Given the description of an element on the screen output the (x, y) to click on. 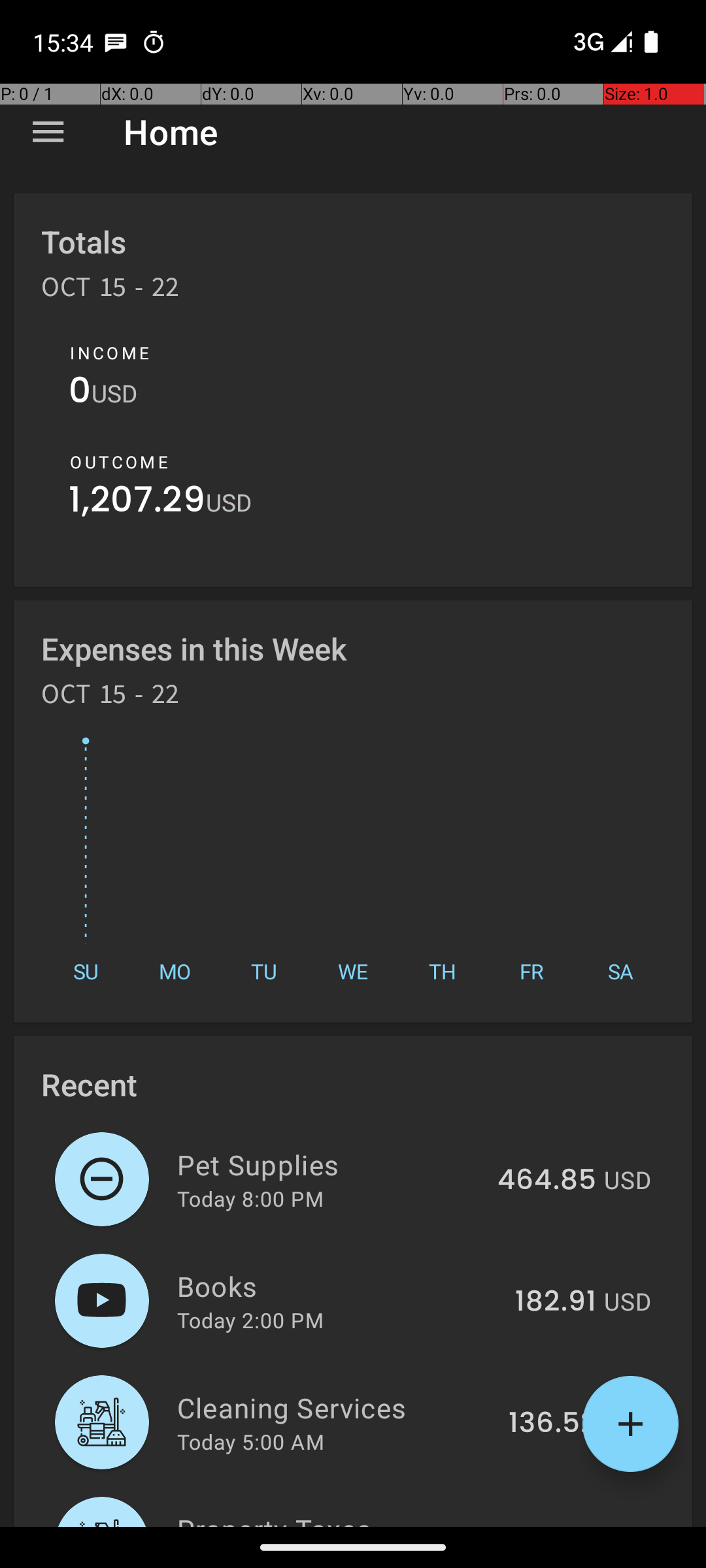
1,207.29 Element type: android.widget.TextView (136, 502)
Pet Supplies Element type: android.widget.TextView (329, 1164)
464.85 Element type: android.widget.TextView (546, 1180)
Books Element type: android.widget.TextView (338, 1285)
182.91 Element type: android.widget.TextView (555, 1301)
136.52 Element type: android.widget.TextView (551, 1423)
Property Taxes Element type: android.widget.TextView (344, 1518)
172.5 Element type: android.widget.TextView (561, 1524)
